Given the description of an element on the screen output the (x, y) to click on. 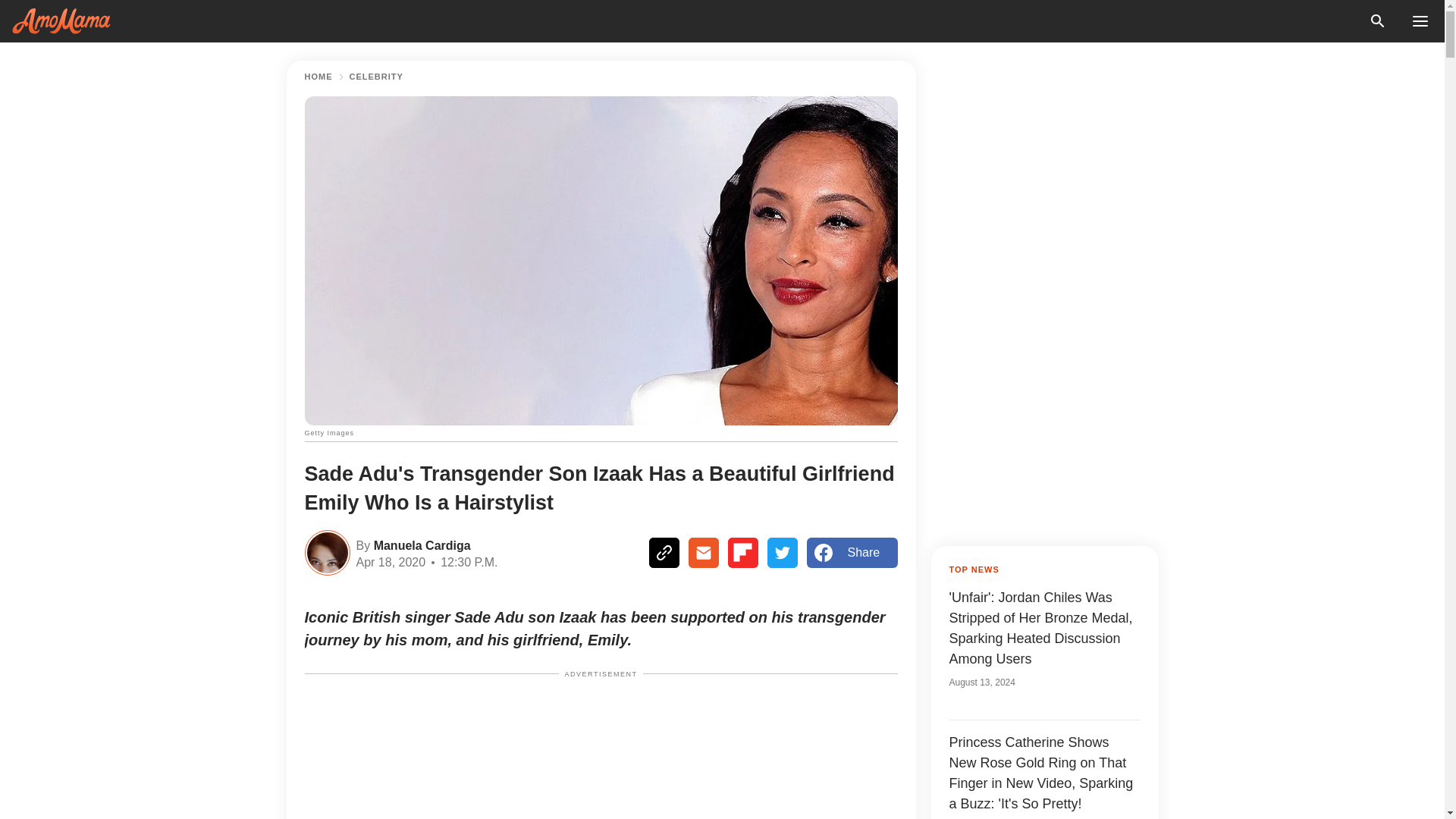
CELEBRITY (376, 76)
HOME (318, 76)
Manuela Cardiga (419, 544)
